Given the description of an element on the screen output the (x, y) to click on. 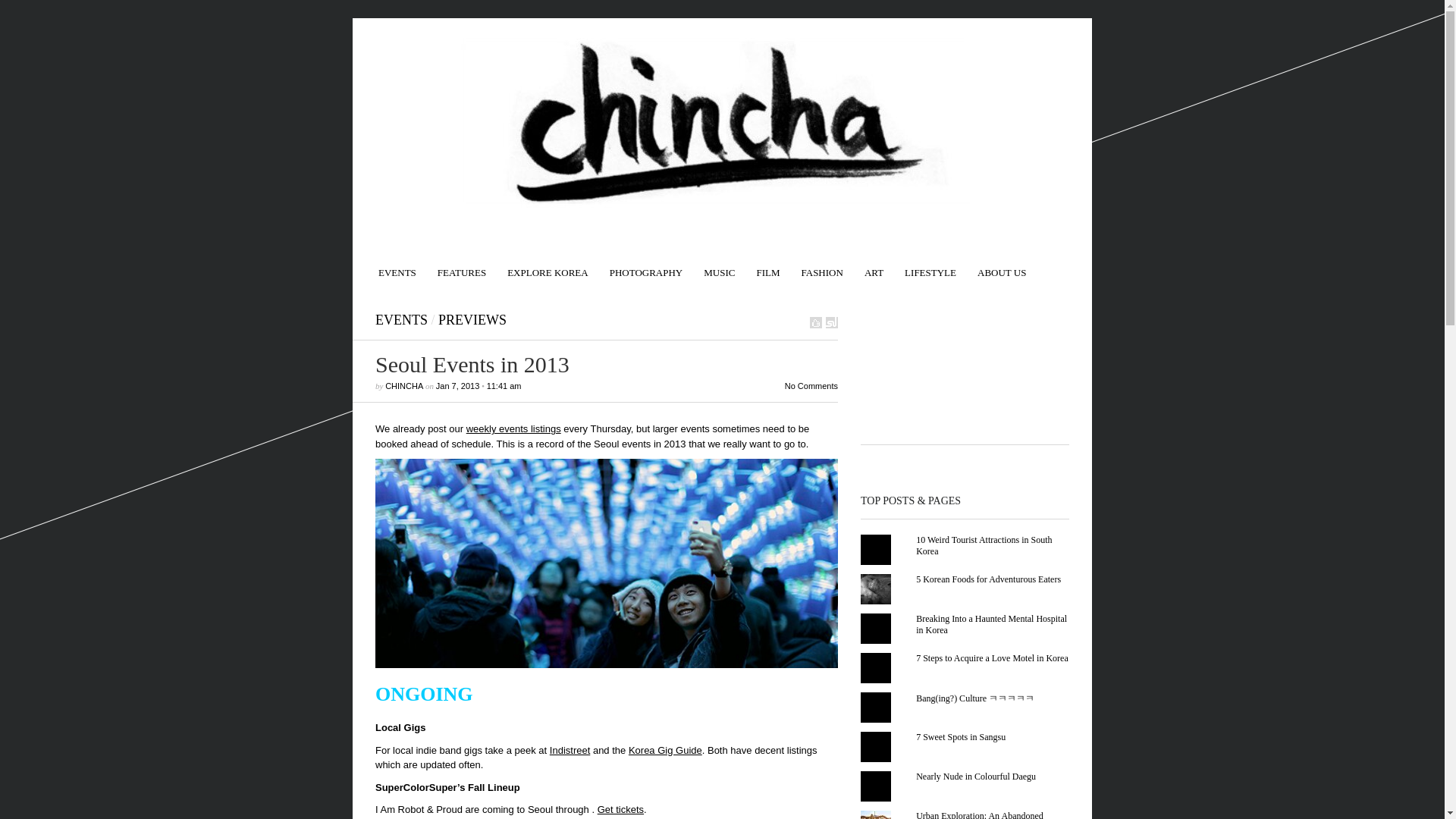
Events This Week (397, 266)
FILM (767, 266)
PREVIEWS (472, 319)
Explore Korea (547, 266)
LIFESTYLE (930, 266)
Korea Gig Guide (664, 749)
EVENTS (397, 266)
No Comments (811, 385)
EVENTS (401, 319)
Get tickets (619, 808)
